Given the description of an element on the screen output the (x, y) to click on. 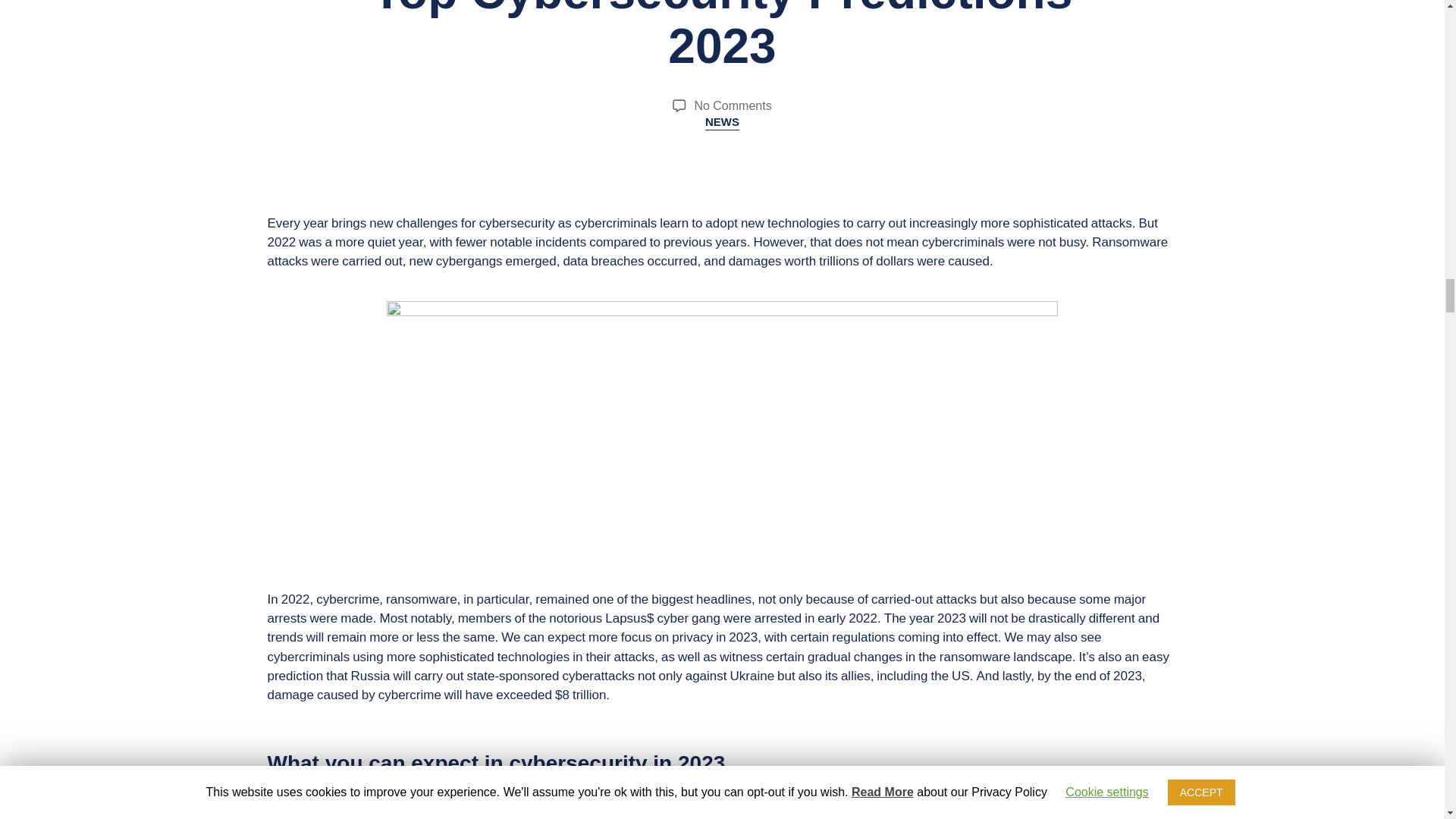
Top Cybersecurity Predictions 2023 (722, 37)
NEWS (721, 122)
